Given the description of an element on the screen output the (x, y) to click on. 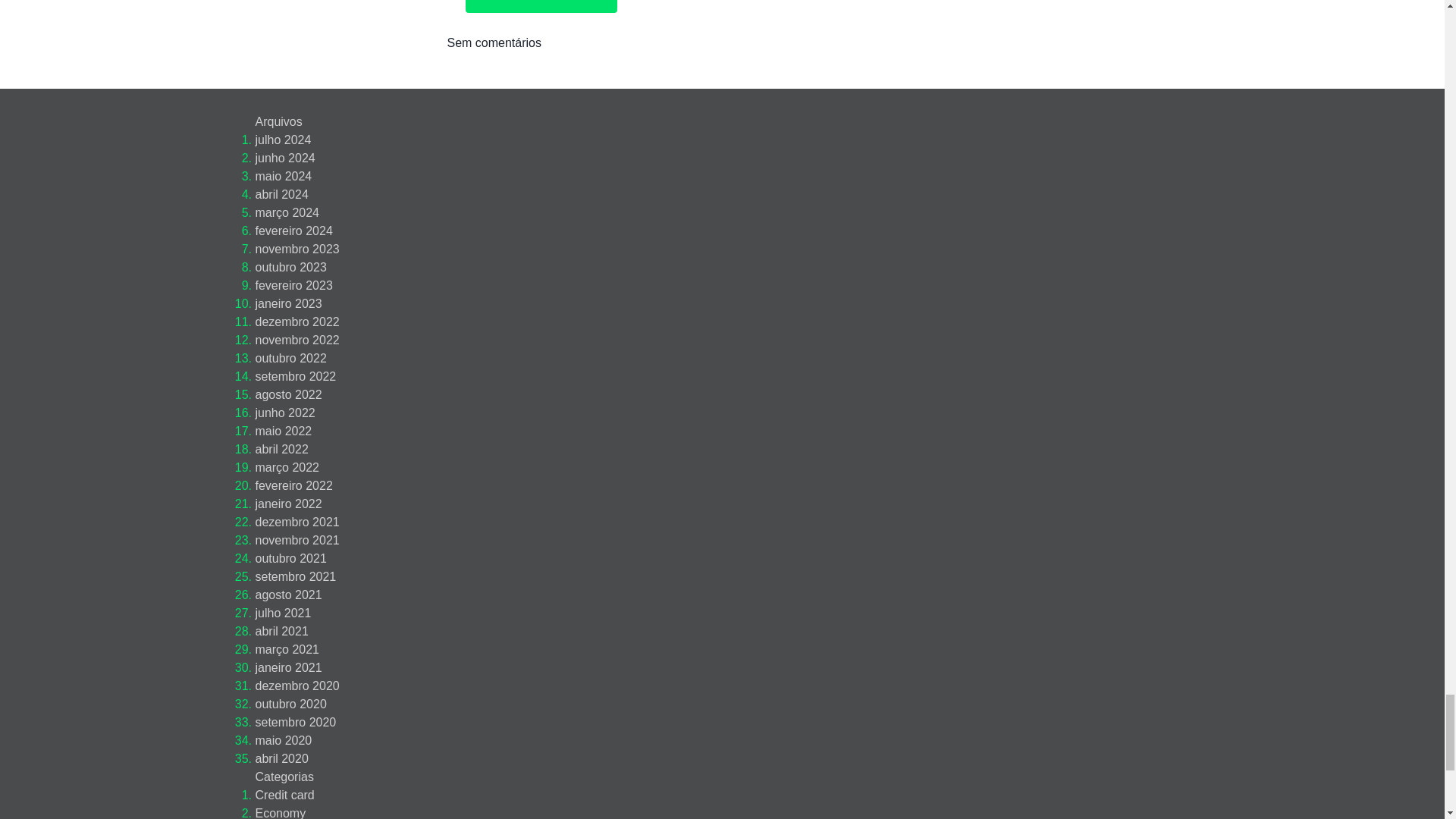
novembro 2021 (296, 540)
maio 2022 (282, 431)
dezembro 2022 (296, 321)
Credit card (284, 794)
fevereiro 2024 (292, 230)
janeiro 2023 (287, 303)
junho 2024 (284, 157)
outubro 2020 (290, 703)
agosto 2022 (287, 394)
dezembro 2020 (296, 685)
dezembro 2021 (296, 521)
abril 2020 (280, 758)
novembro 2023 (296, 248)
abril 2021 (280, 631)
fevereiro 2022 (292, 485)
